Given the description of an element on the screen output the (x, y) to click on. 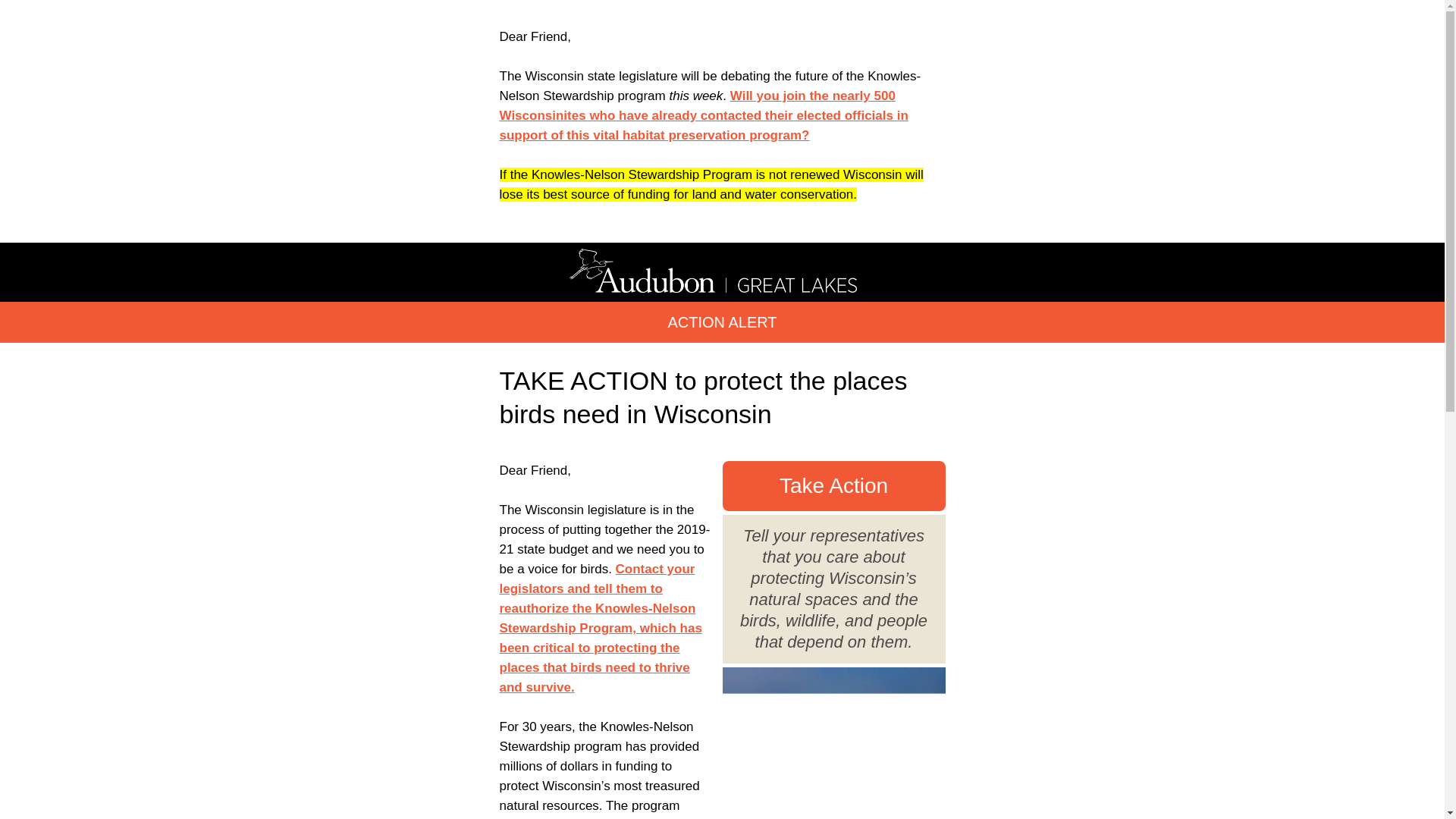
Take Action (833, 486)
TAKE ACTION to protect the places birds need in Wisconsin (703, 397)
